Given the description of an element on the screen output the (x, y) to click on. 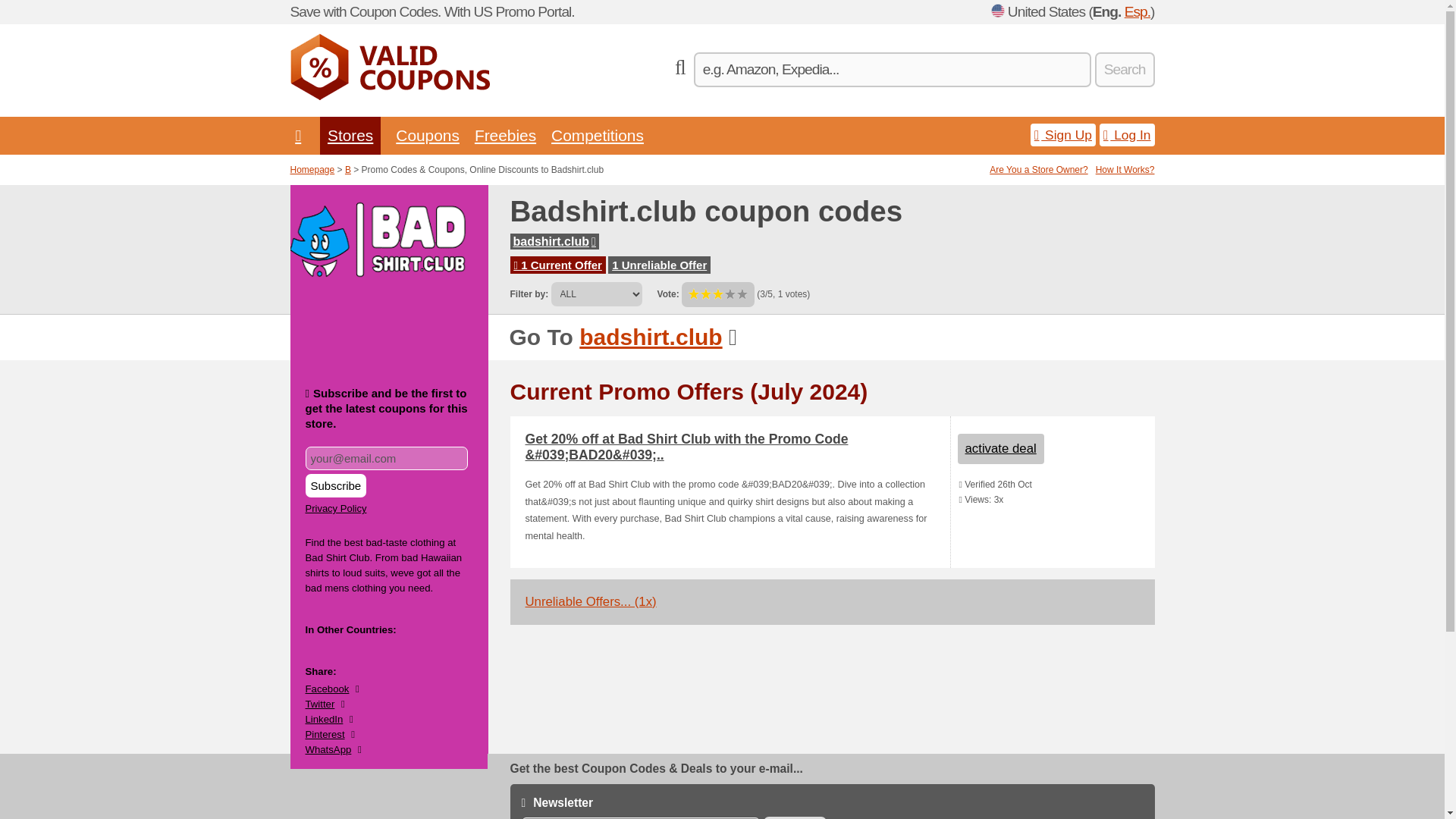
Stores (349, 135)
e.g. Amazon, Expedia... (892, 69)
Search (1124, 69)
Coupons (428, 135)
Search (1124, 69)
Badshirt.club (650, 336)
Esp. (1137, 11)
badshirt-club (553, 241)
